Given the description of an element on the screen output the (x, y) to click on. 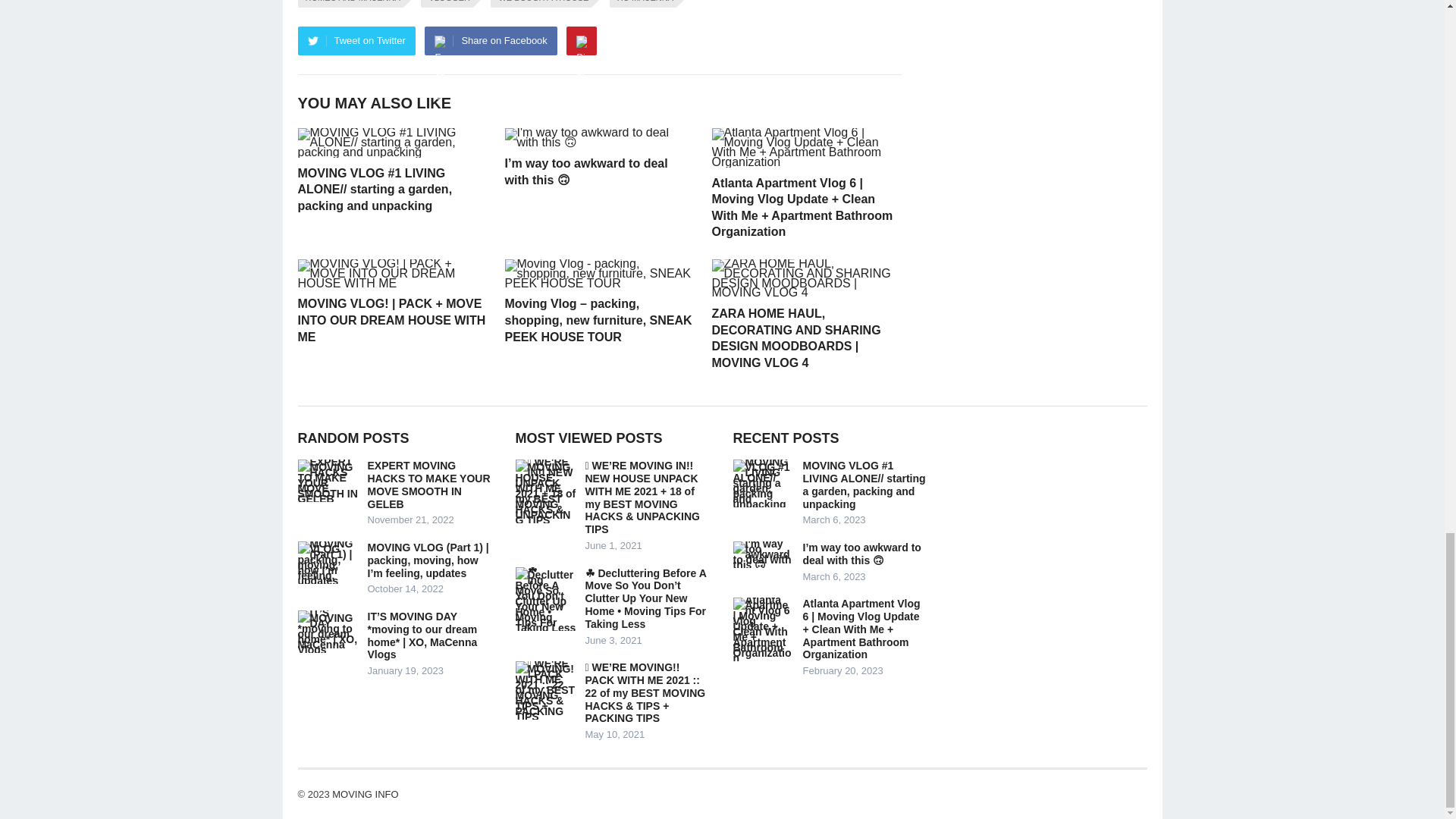
VLOGGER (445, 3)
ROMEO AND MACENNA (350, 3)
WE BOUGHT A HOUSE (540, 3)
